Given the description of an element on the screen output the (x, y) to click on. 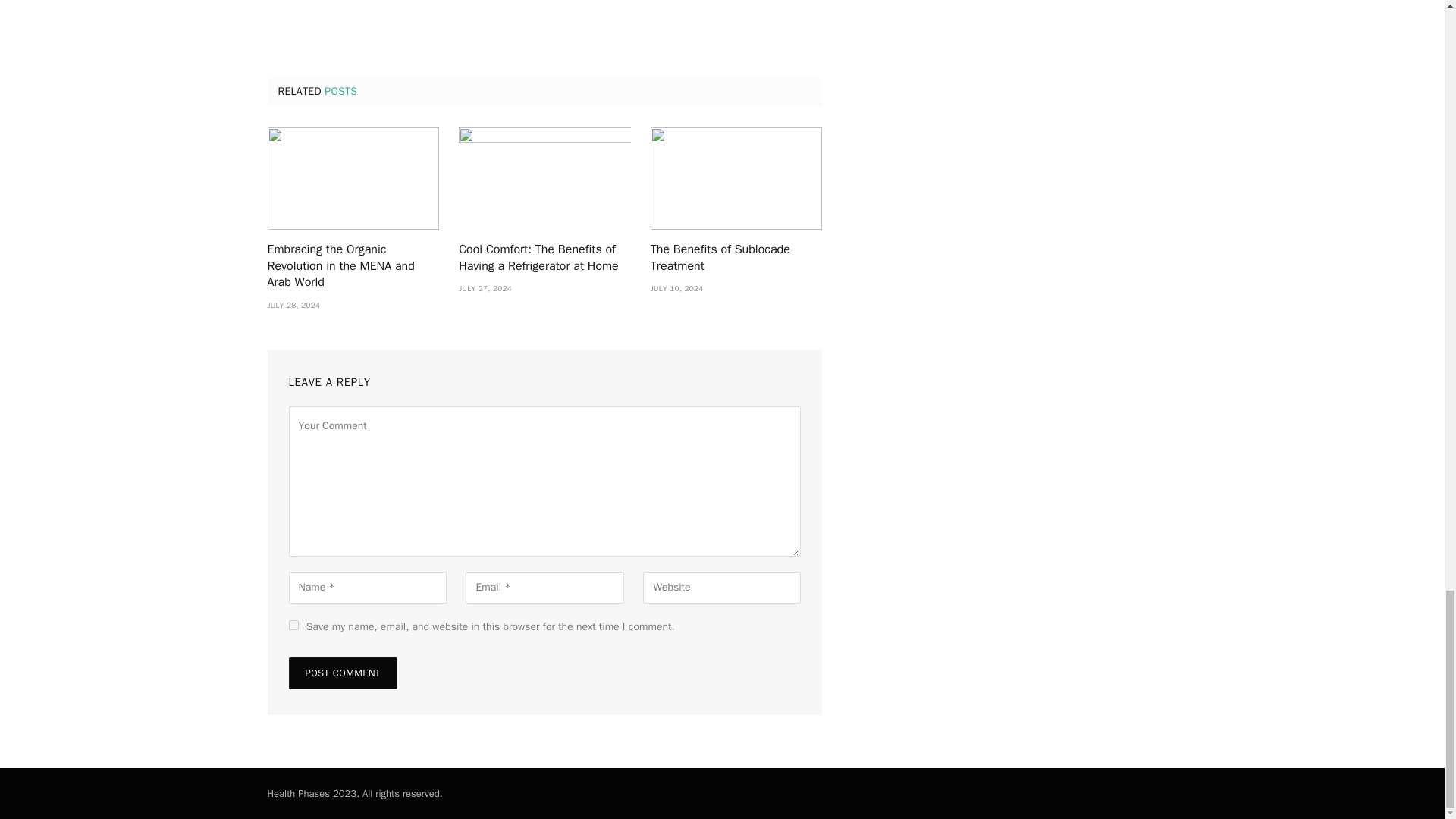
Post Comment (342, 673)
yes (293, 624)
